Given the description of an element on the screen output the (x, y) to click on. 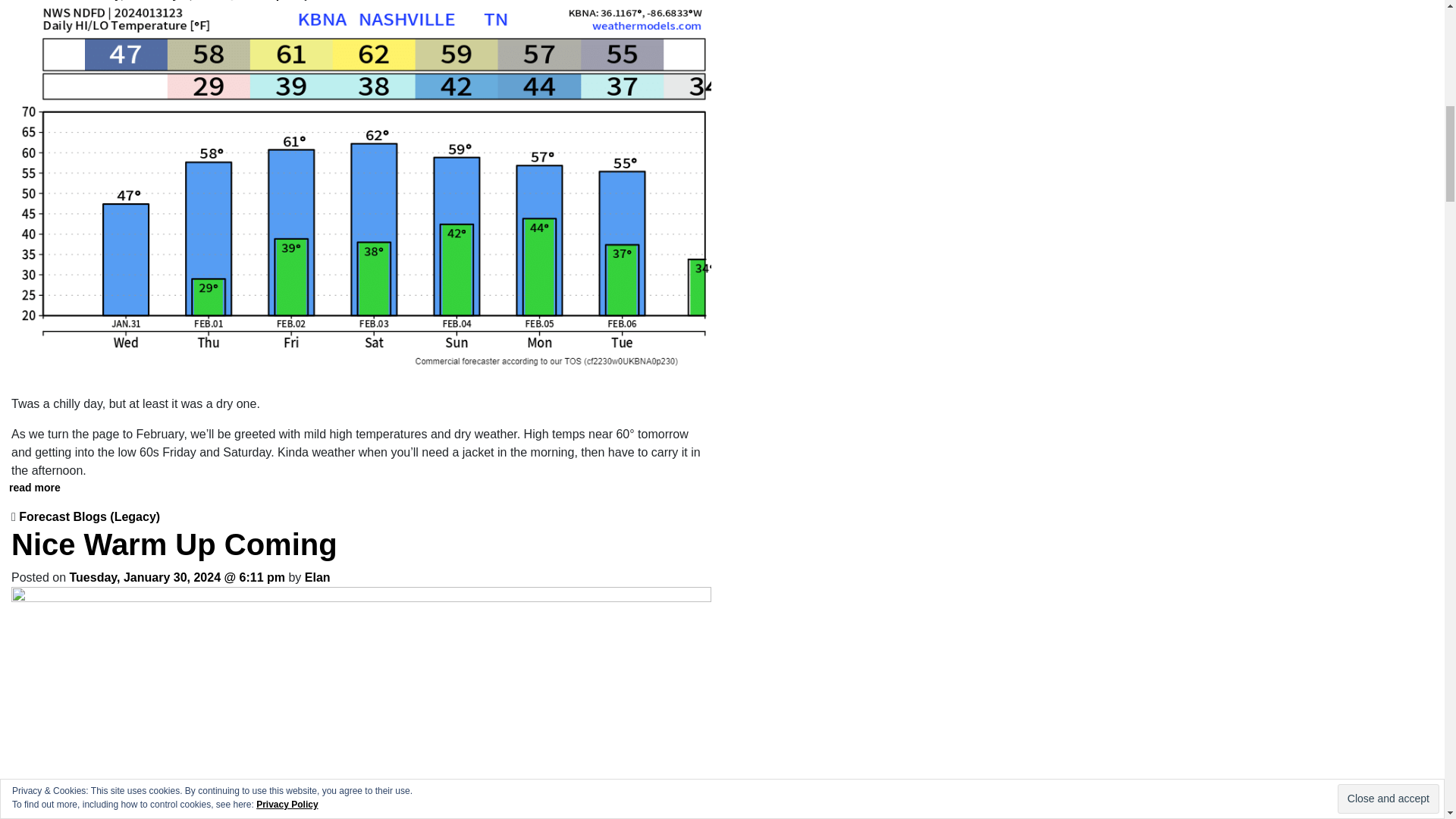
read more (34, 487)
6:11 pm (177, 576)
View all posts by Elan (317, 576)
